Given the description of an element on the screen output the (x, y) to click on. 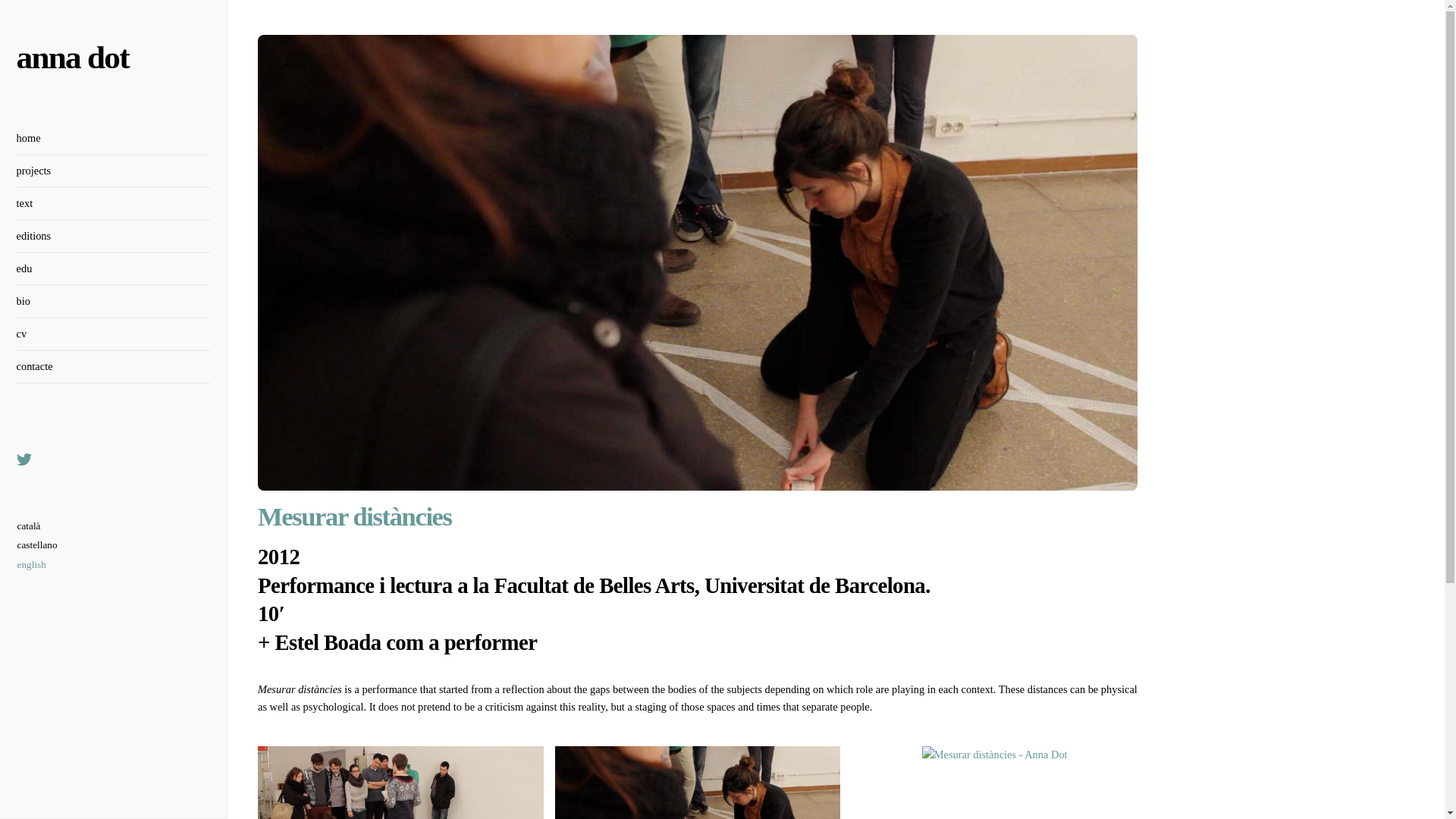
contacte (113, 367)
text (113, 204)
home (113, 138)
english (37, 564)
anna dot (72, 57)
anna dot (72, 57)
bio (113, 301)
cv (113, 334)
editions (113, 236)
projects (113, 171)
edu (113, 269)
castellano (37, 545)
